Given the description of an element on the screen output the (x, y) to click on. 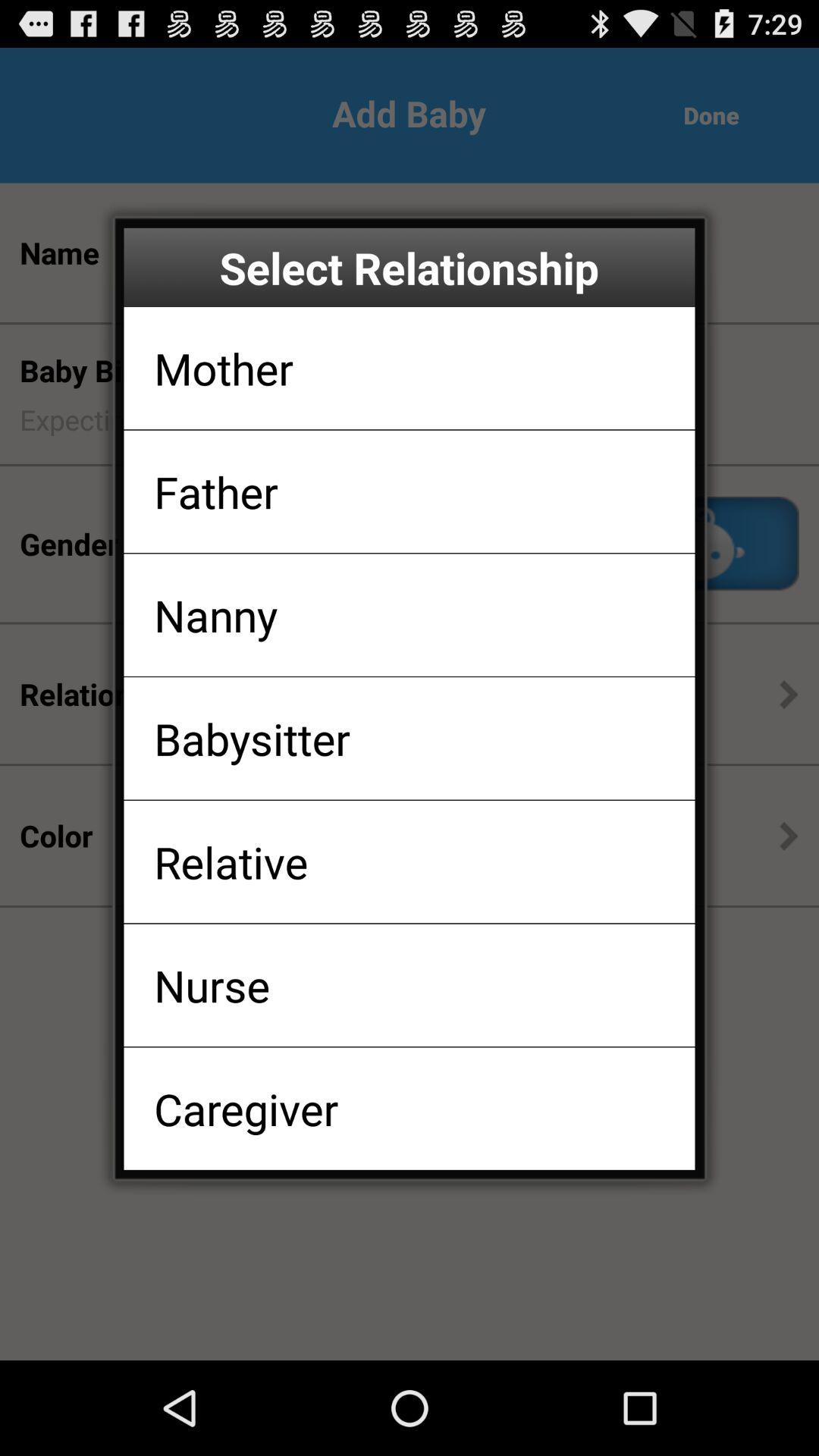
choose relative (231, 861)
